Given the description of an element on the screen output the (x, y) to click on. 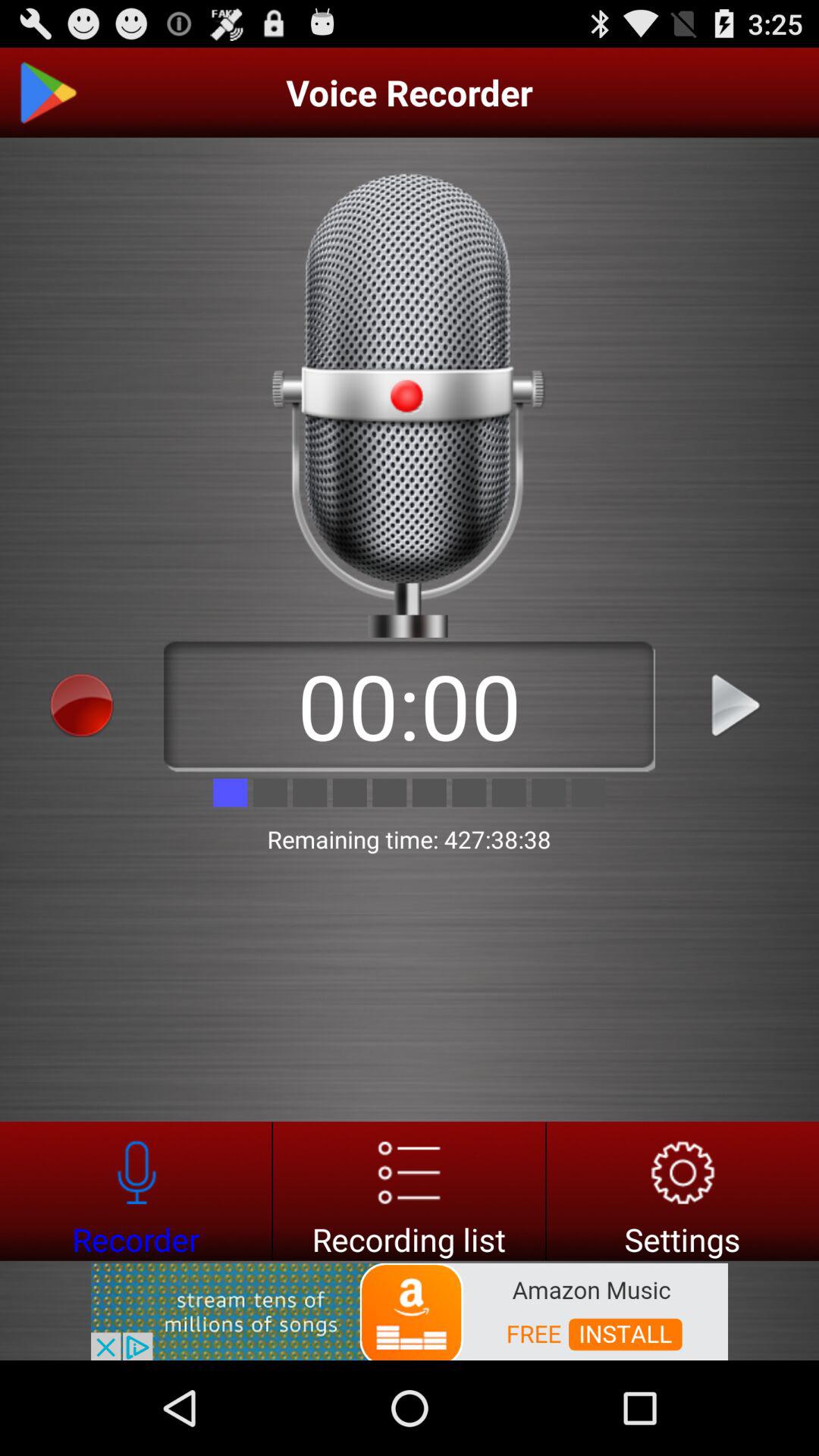
amazon music (409, 1310)
